Given the description of an element on the screen output the (x, y) to click on. 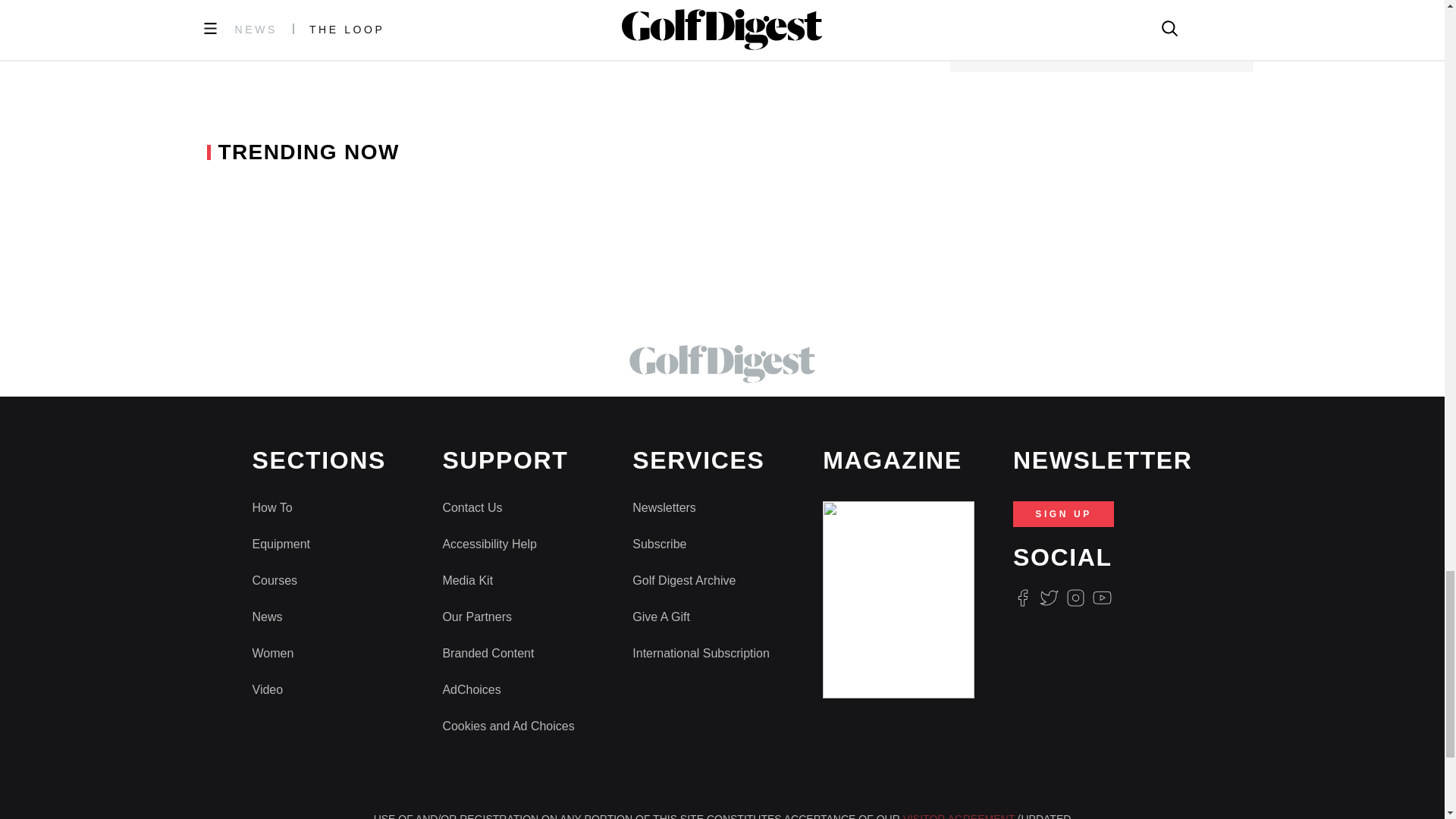
Facebook Logo (1022, 597)
Instagram Logo (1074, 597)
Youtube Icon (1102, 597)
Twitter Logo (1048, 597)
